Given the description of an element on the screen output the (x, y) to click on. 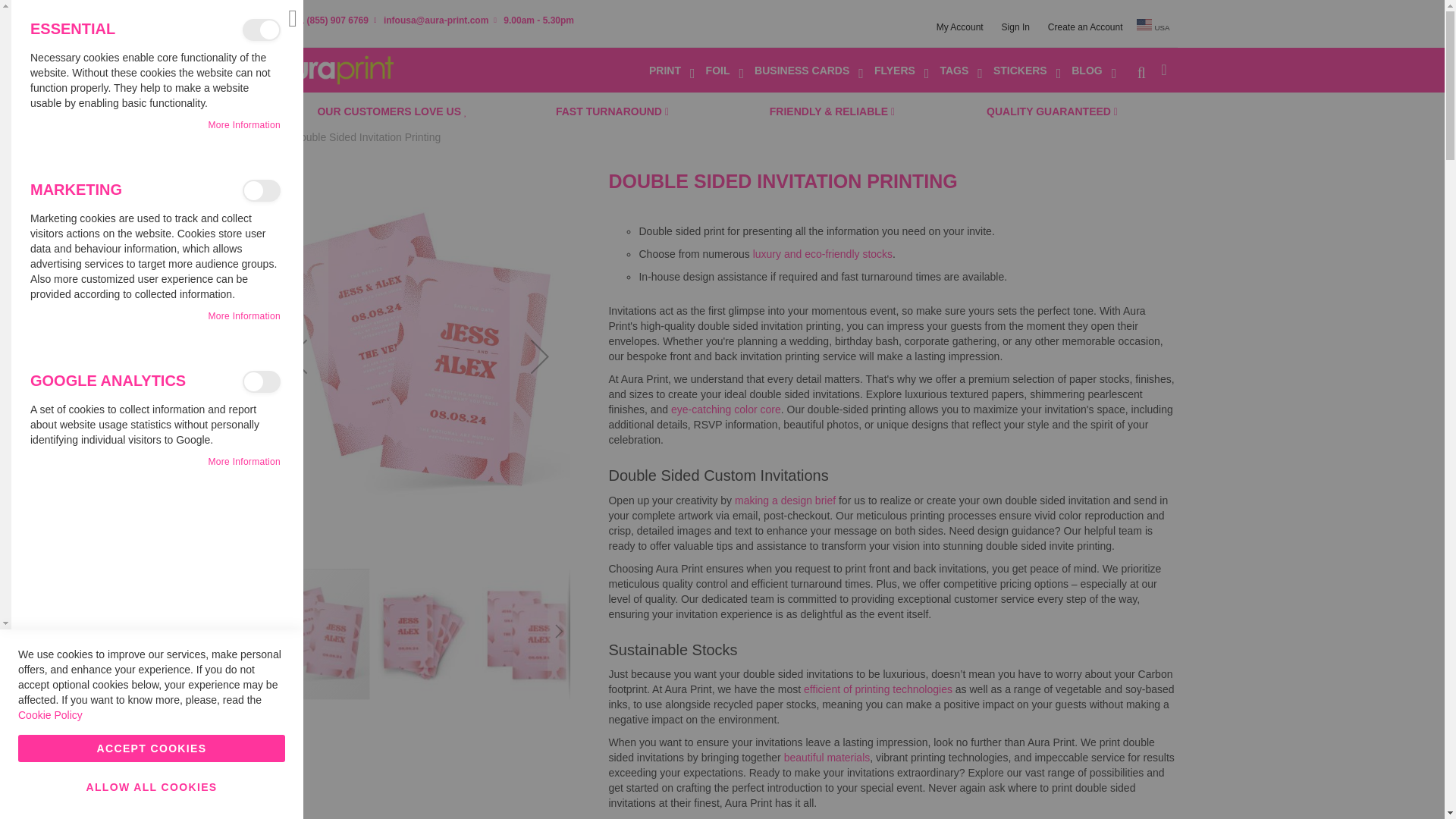
Go to Home Page (265, 137)
PRINT (672, 70)
Sign In (1015, 27)
My Account (960, 27)
Create an Account (1084, 27)
